Given the description of an element on the screen output the (x, y) to click on. 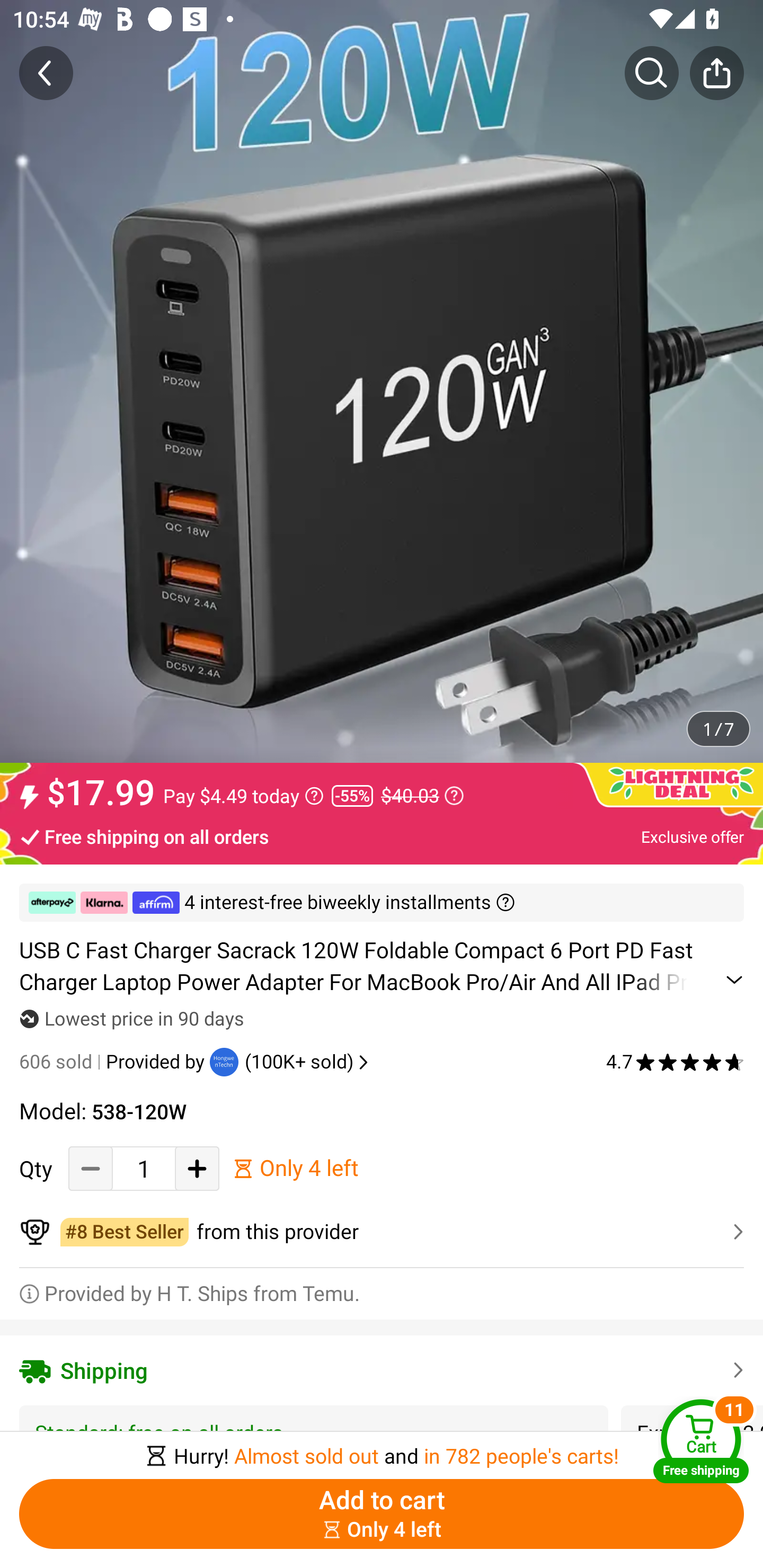
Back (46, 72)
Share (716, 72)
Pay $4.49 today   (243, 795)
Free shipping on all orders Exclusive offer (381, 836)
￼ ￼ ￼ 4 interest-free biweekly installments ￼ (381, 902)
606 sold Provided by  (114, 1061)
4.7 (674, 1061)
Decrease Quantity Button (90, 1168)
1 (143, 1168)
Add Quantity button (196, 1168)
￼￼from this provider (381, 1231)
Shipping (381, 1369)
Cart Free shipping Cart (701, 1440)
Add to cart ￼￼Only 4 left (381, 1513)
